Given the description of an element on the screen output the (x, y) to click on. 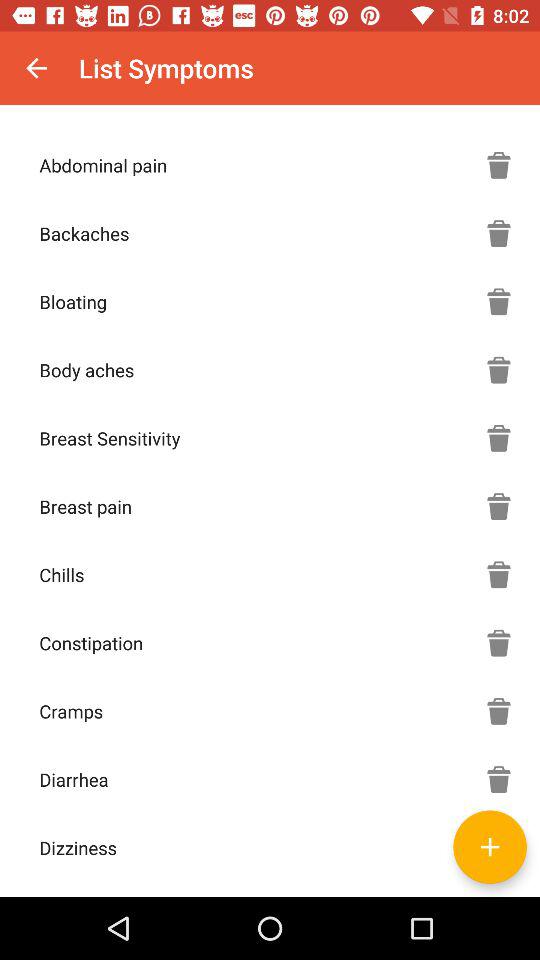
delete (499, 165)
